Given the description of an element on the screen output the (x, y) to click on. 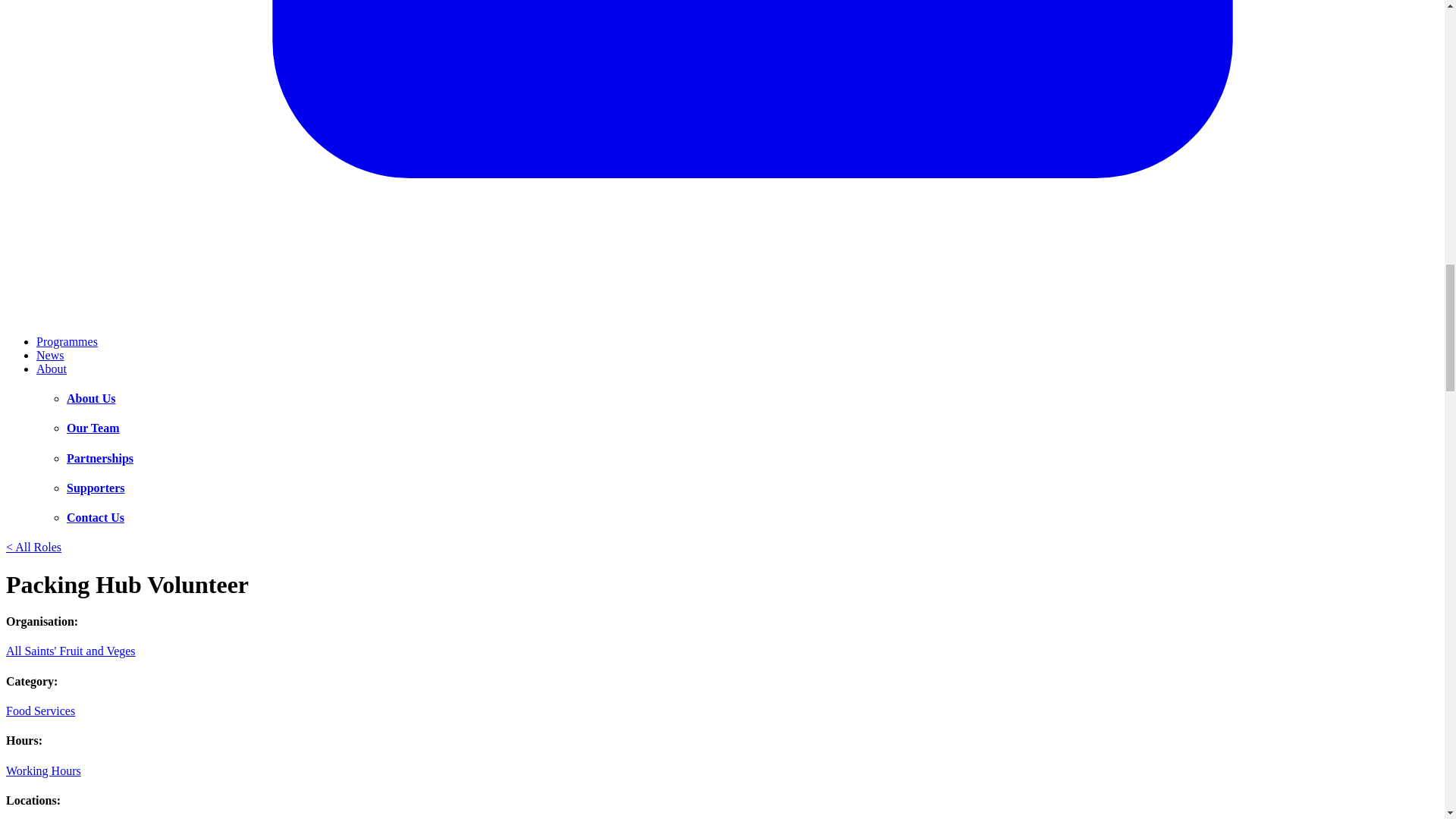
Working Hours (43, 770)
News (50, 354)
Programmes (66, 341)
All Saints' Fruit and Veges (70, 650)
About (51, 368)
Food Services (40, 710)
